Given the description of an element on the screen output the (x, y) to click on. 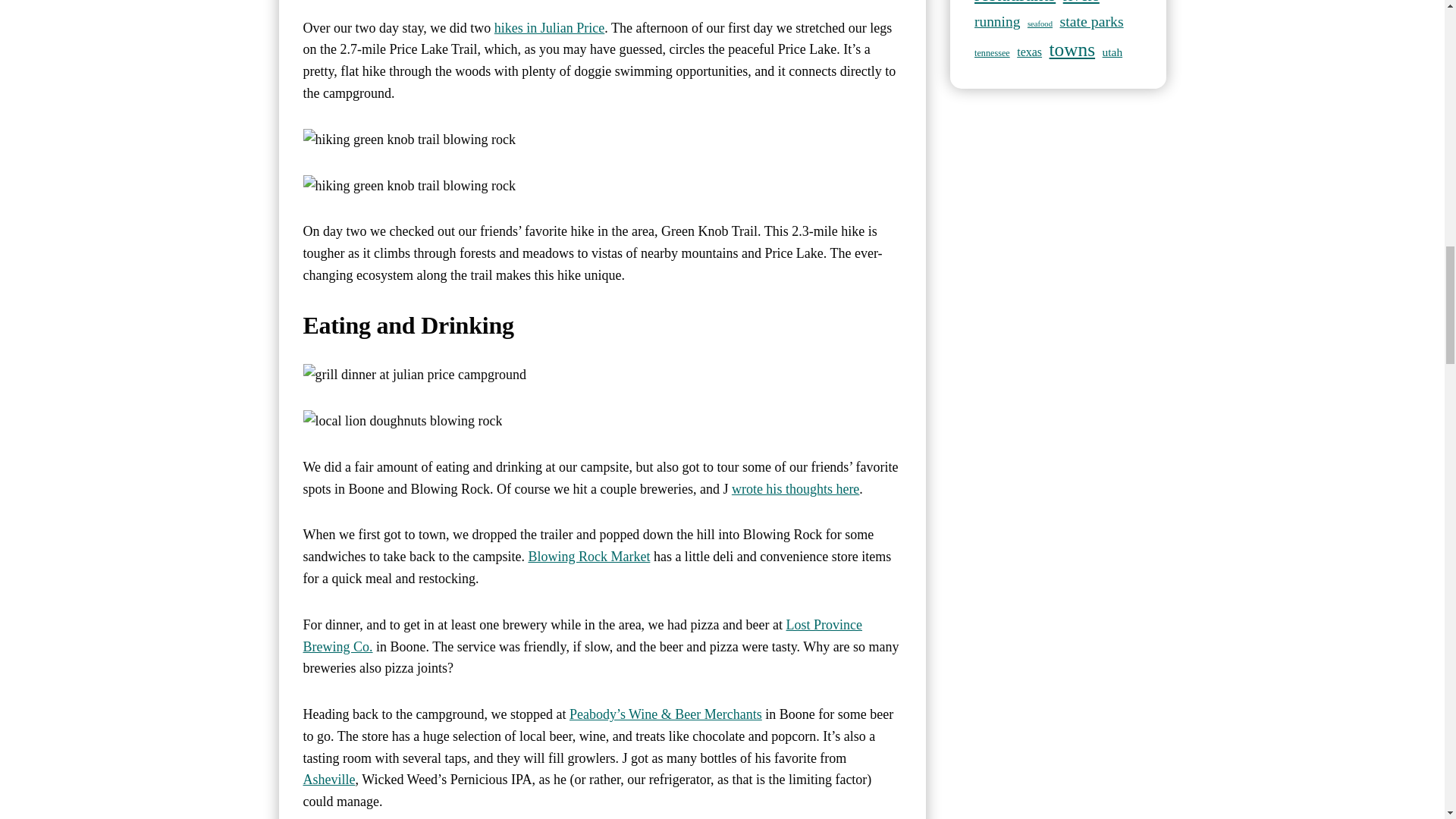
Asheville (328, 779)
Lost Province Brewing Co. (582, 635)
wrote his thoughts here (795, 488)
hikes in Julian Price (549, 28)
Blowing Rock Market (588, 556)
